Given the description of an element on the screen output the (x, y) to click on. 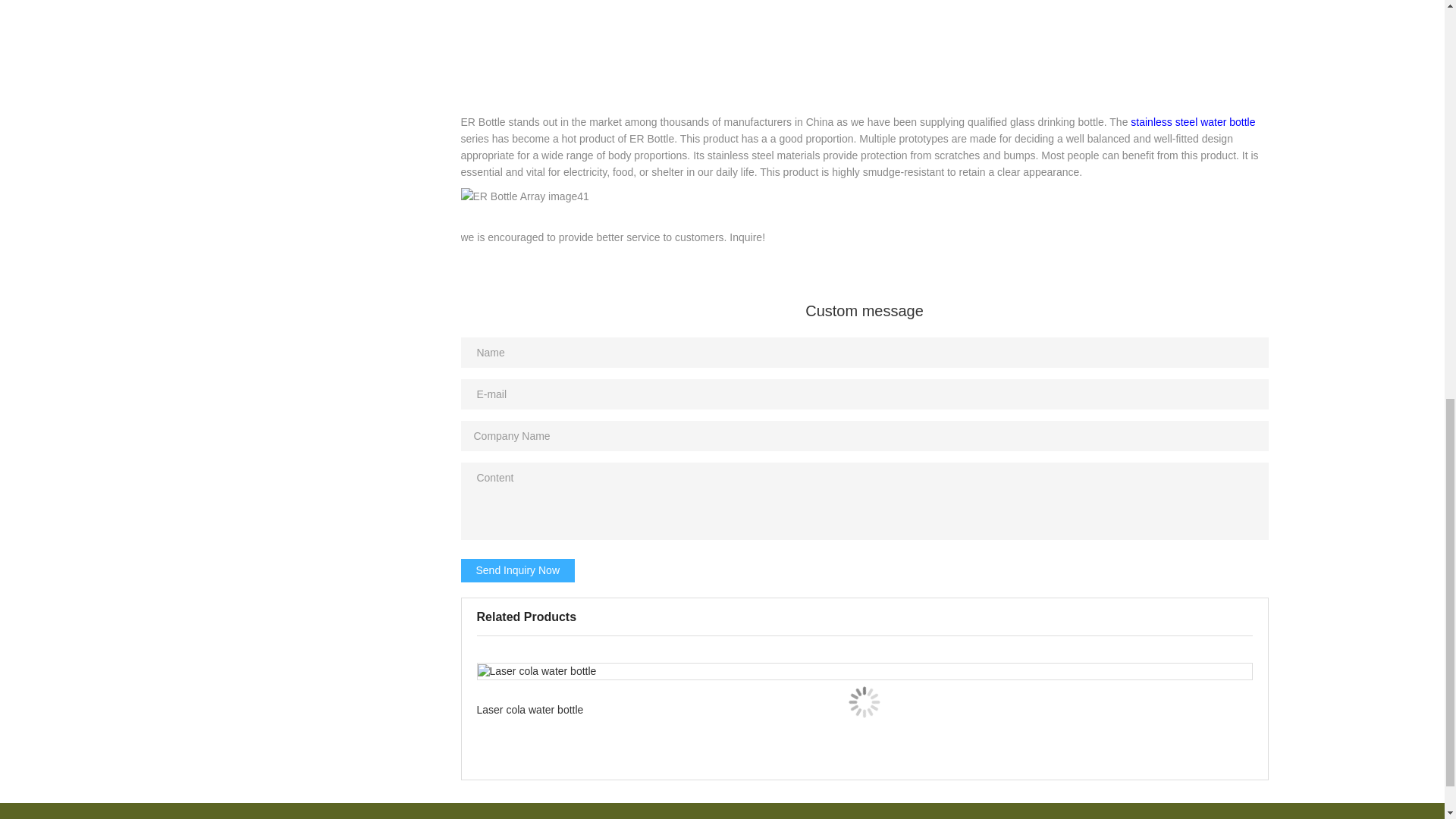
Laser cola water bottle (864, 702)
stainless steel water bottle (1193, 121)
Send Inquiry Now (518, 569)
